Given the description of an element on the screen output the (x, y) to click on. 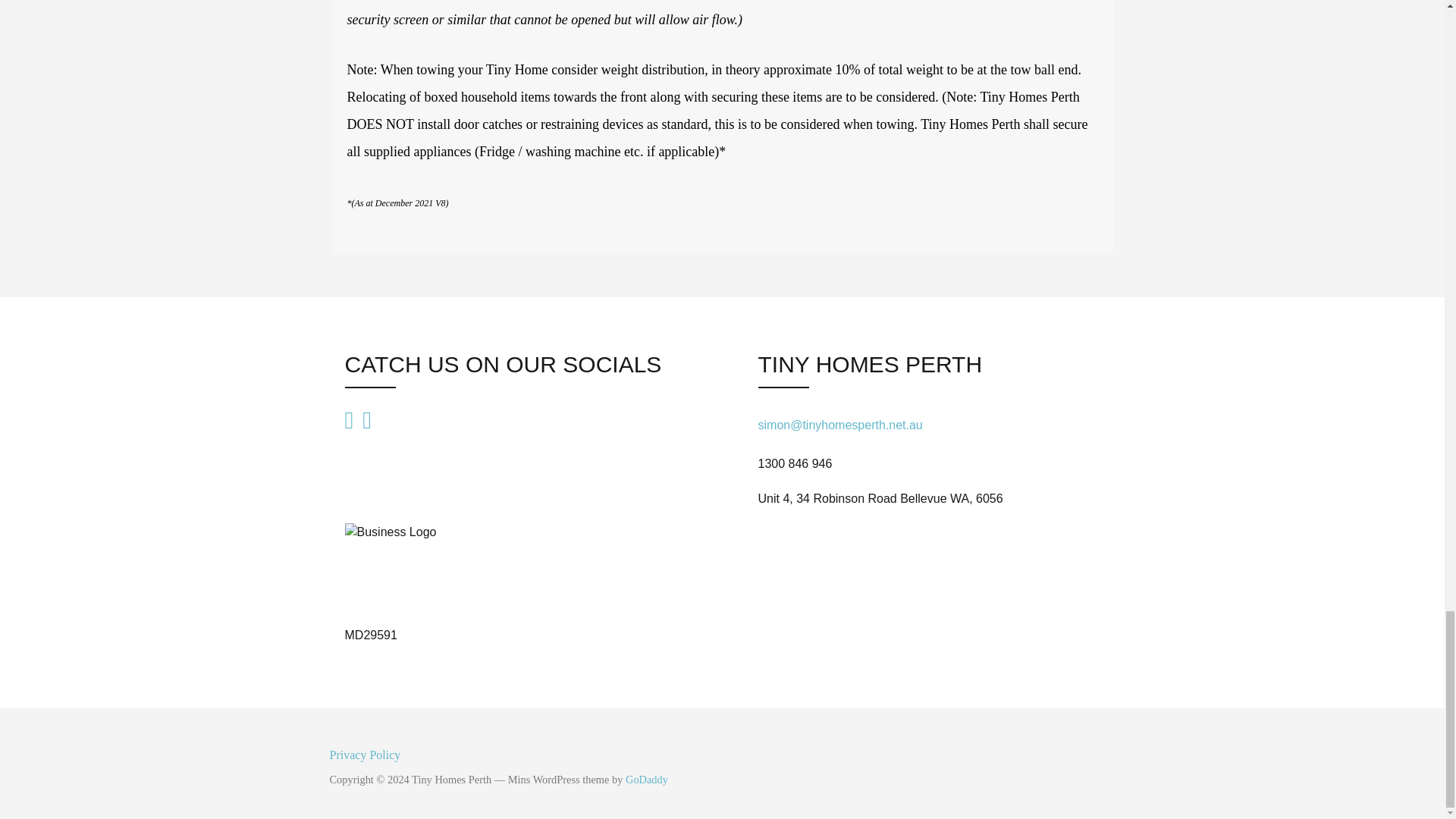
GoDaddy (647, 779)
Privacy Policy (722, 755)
